Given the description of an element on the screen output the (x, y) to click on. 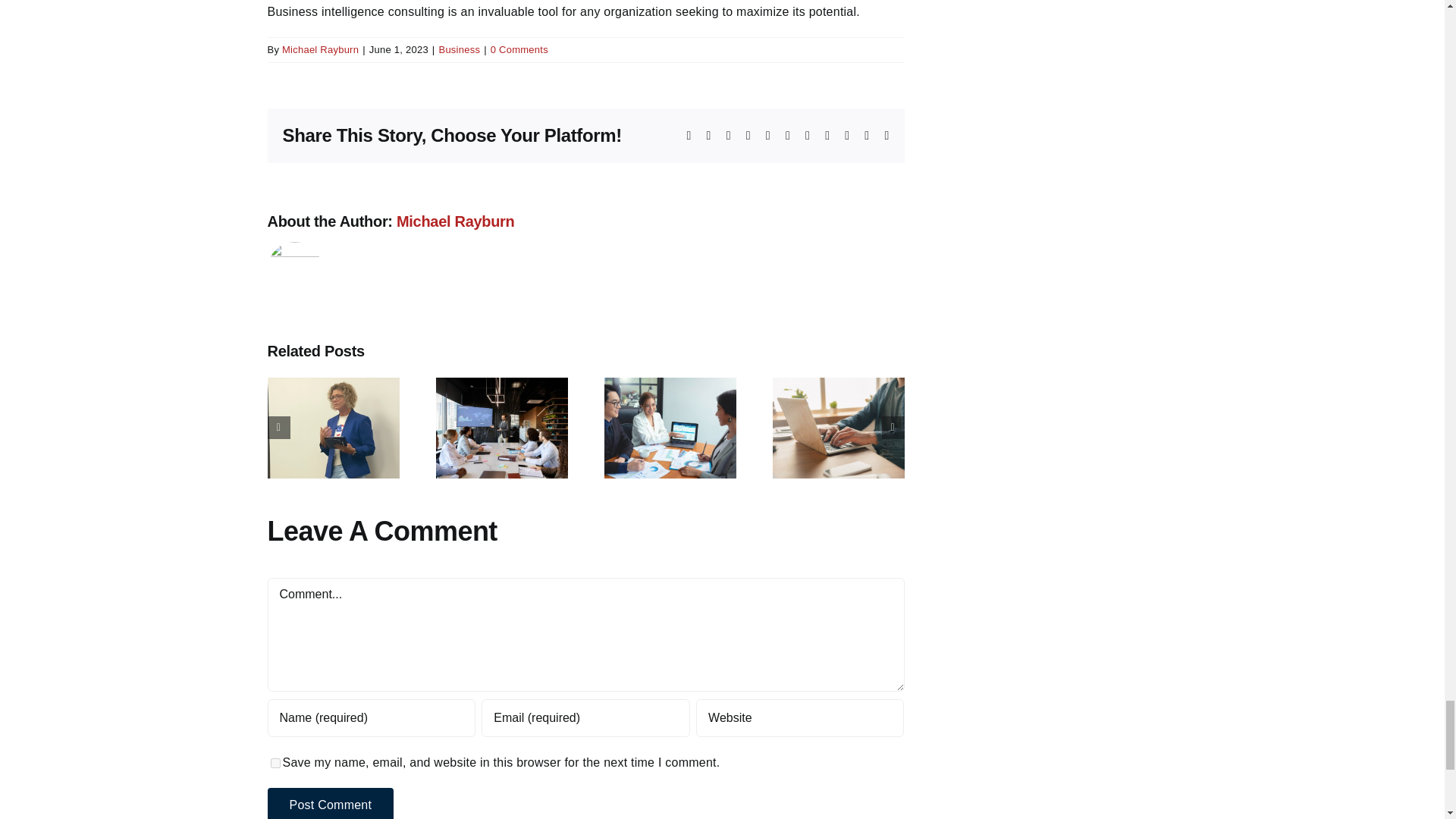
Posts by Michael Rayburn (320, 49)
yes (274, 763)
Post Comment (329, 803)
